Given the description of an element on the screen output the (x, y) to click on. 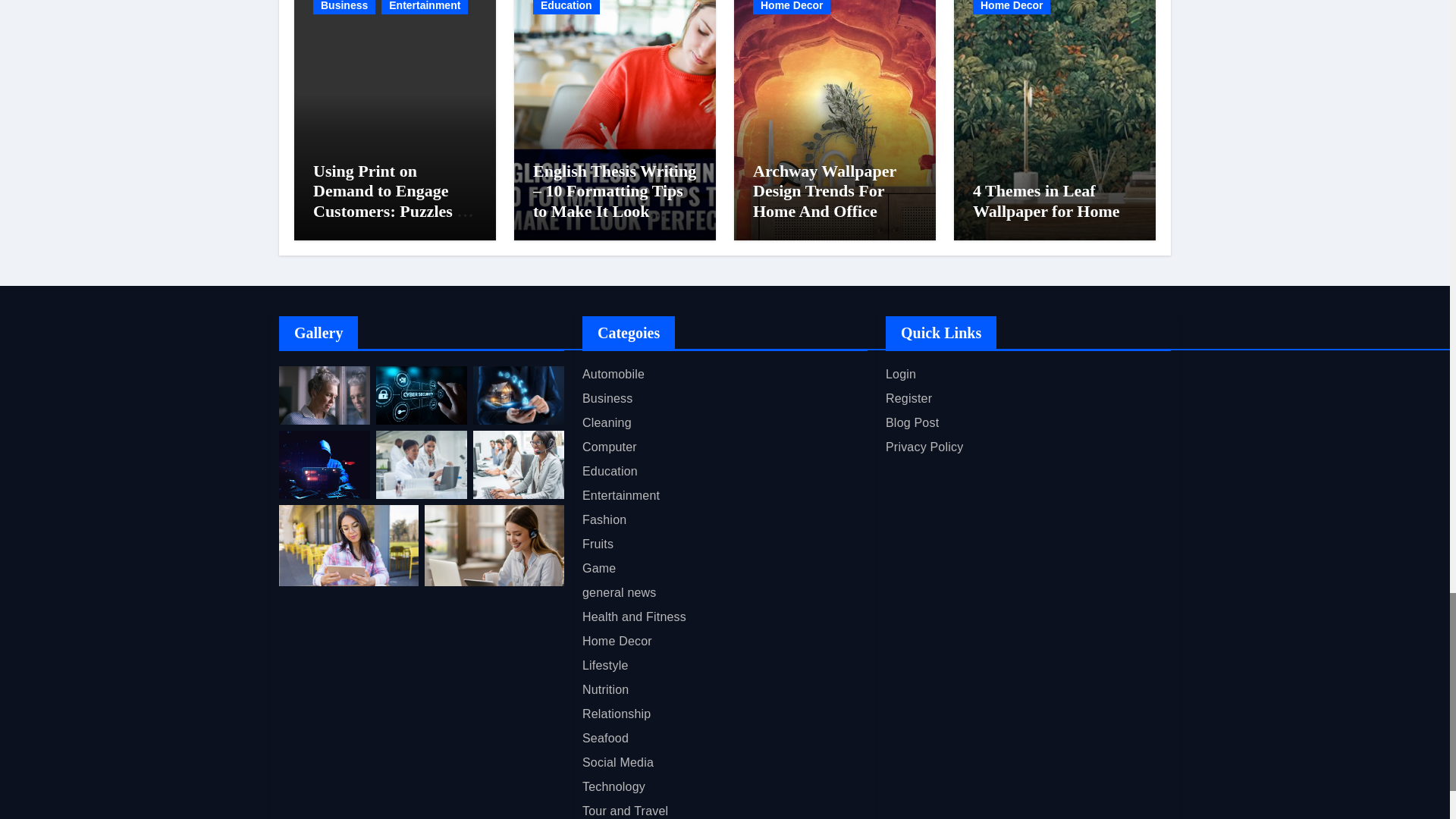
Permalink to: 4 Themes in Leaf Wallpaper for Home (1045, 200)
